Given the description of an element on the screen output the (x, y) to click on. 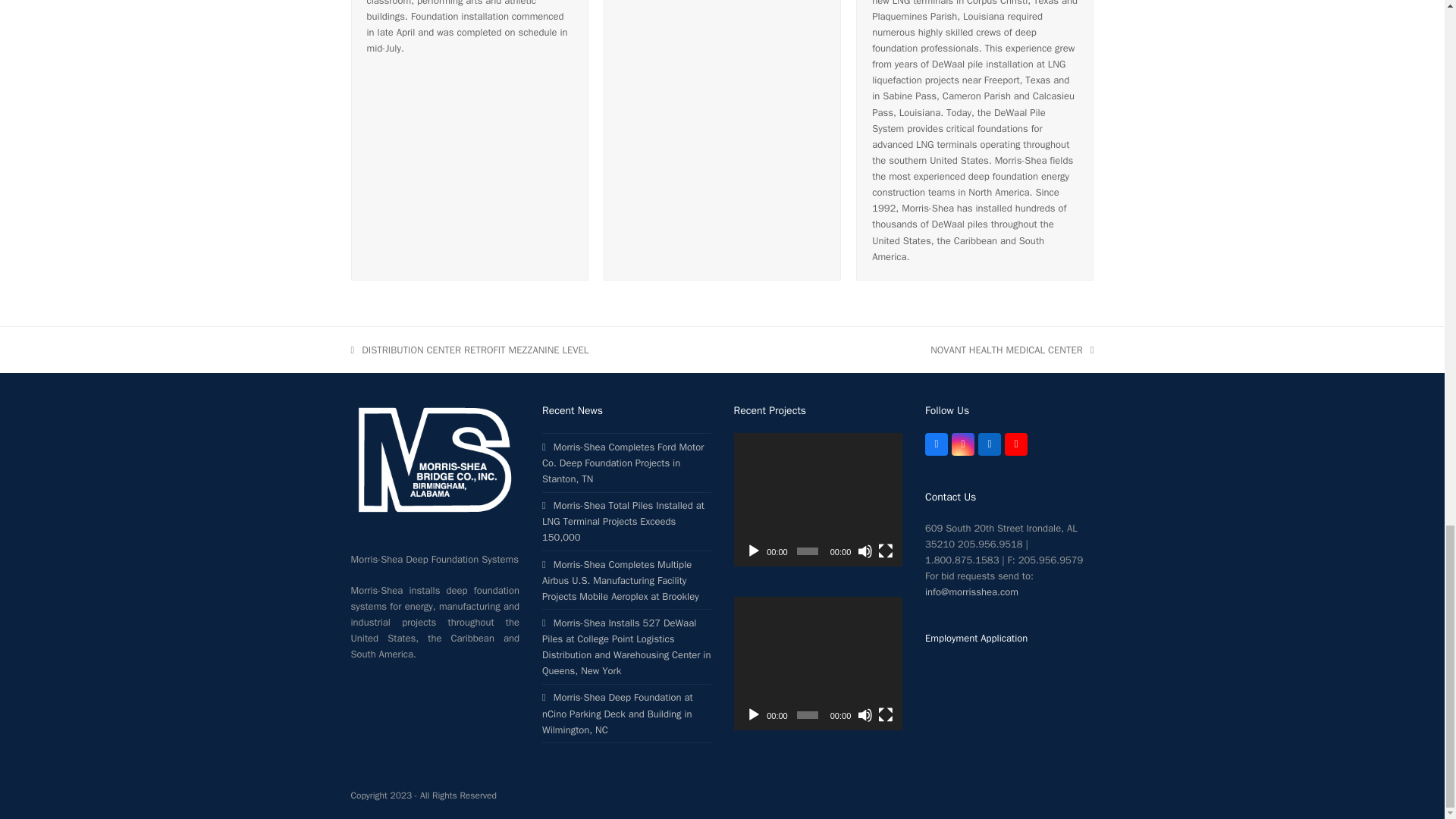
YouTube (1015, 444)
Fullscreen (885, 550)
Instagram (963, 444)
Fullscreen (885, 714)
LinkedIn (989, 444)
Play (753, 550)
Mute (864, 714)
Facebook (935, 444)
Play (753, 714)
Mute (864, 550)
